Given the description of an element on the screen output the (x, y) to click on. 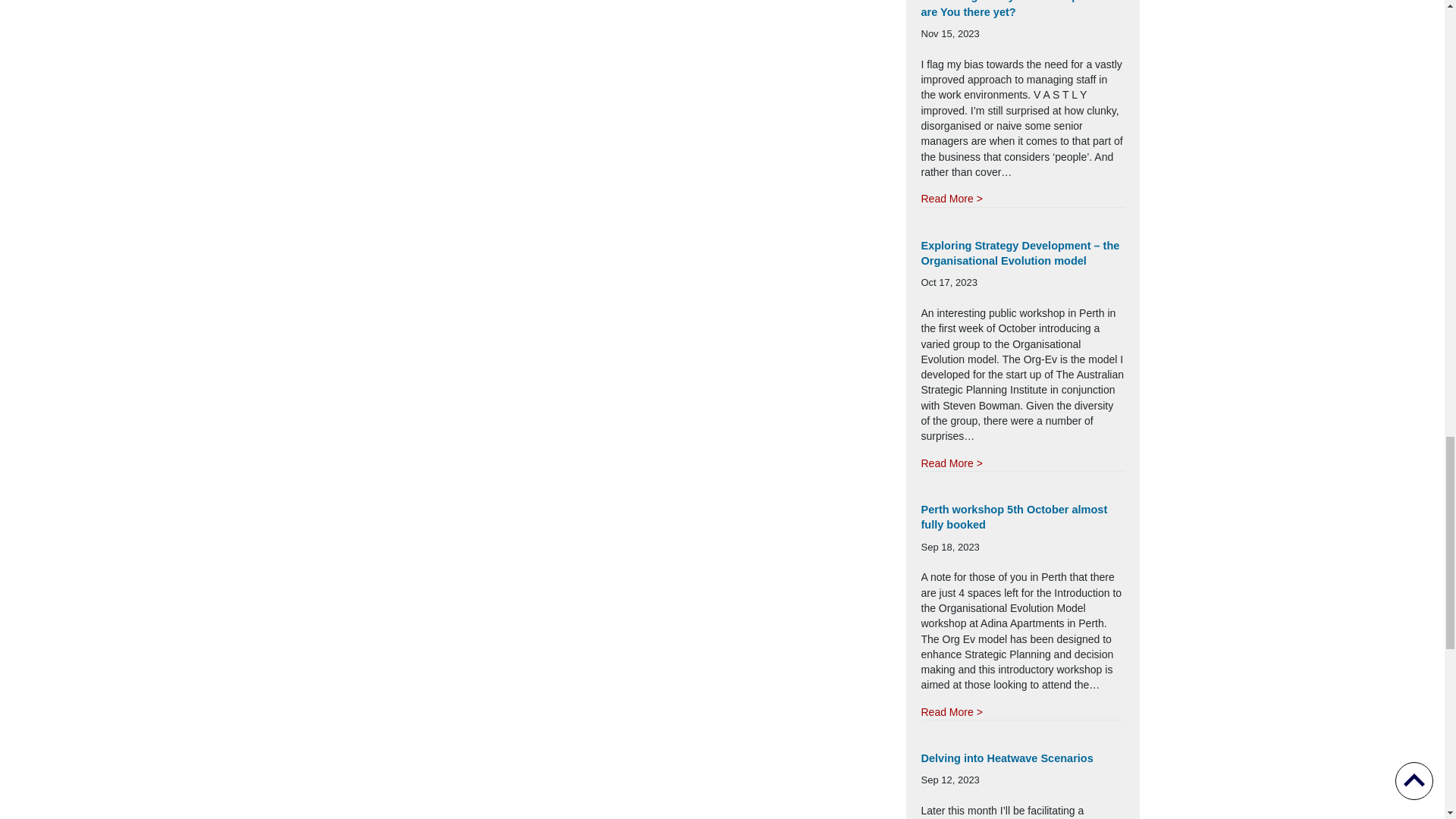
Perth workshop 5th October almost fully booked (1013, 516)
